Given the description of an element on the screen output the (x, y) to click on. 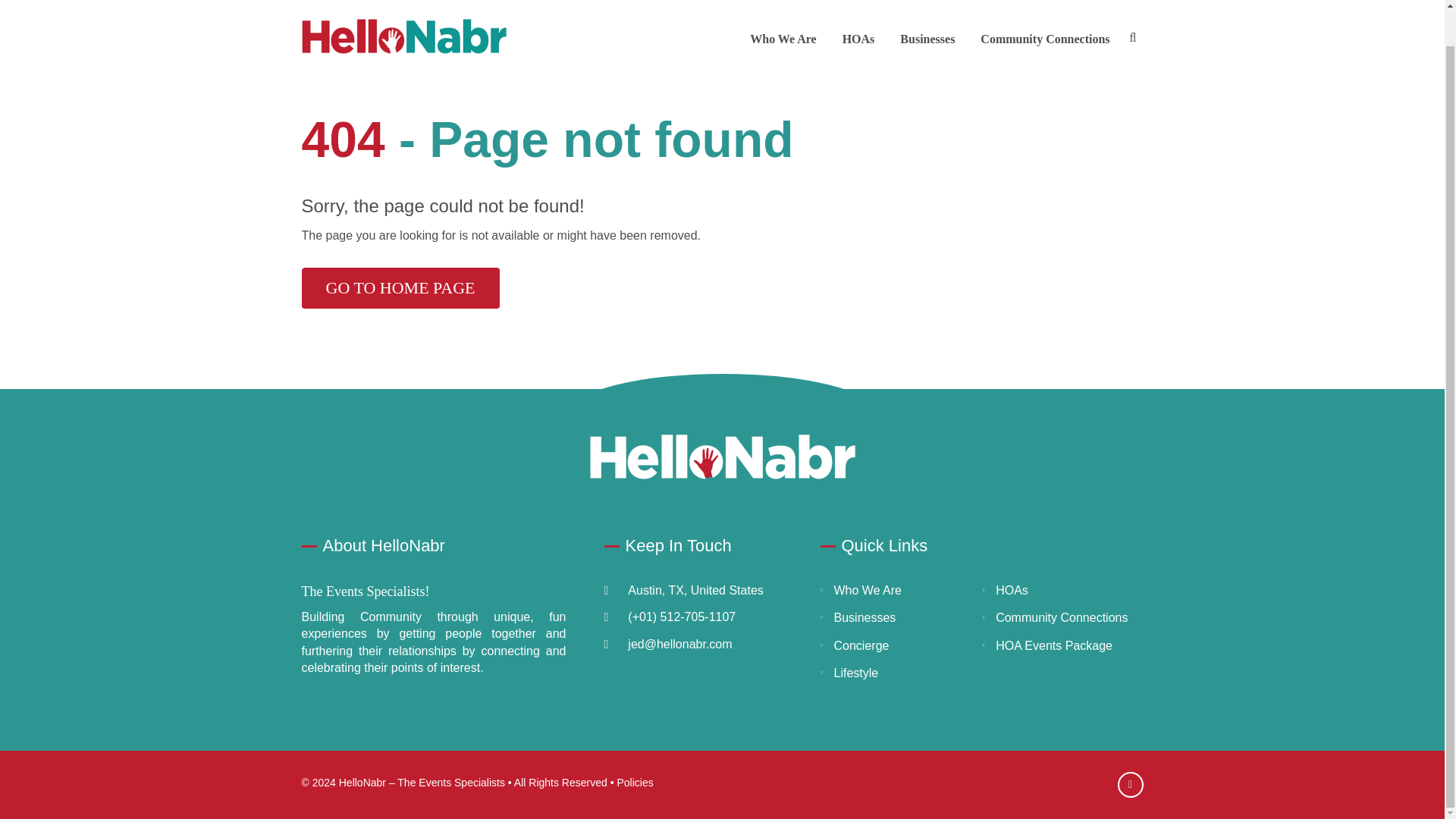
Community Connections (1060, 617)
Concierge (861, 646)
Community Connections (1044, 5)
Austin, TX, United States (694, 590)
Businesses (927, 5)
Policies (633, 782)
Lifestyle (856, 673)
Who We Are (783, 5)
Who We Are (783, 5)
HOAs (1011, 590)
